Given the description of an element on the screen output the (x, y) to click on. 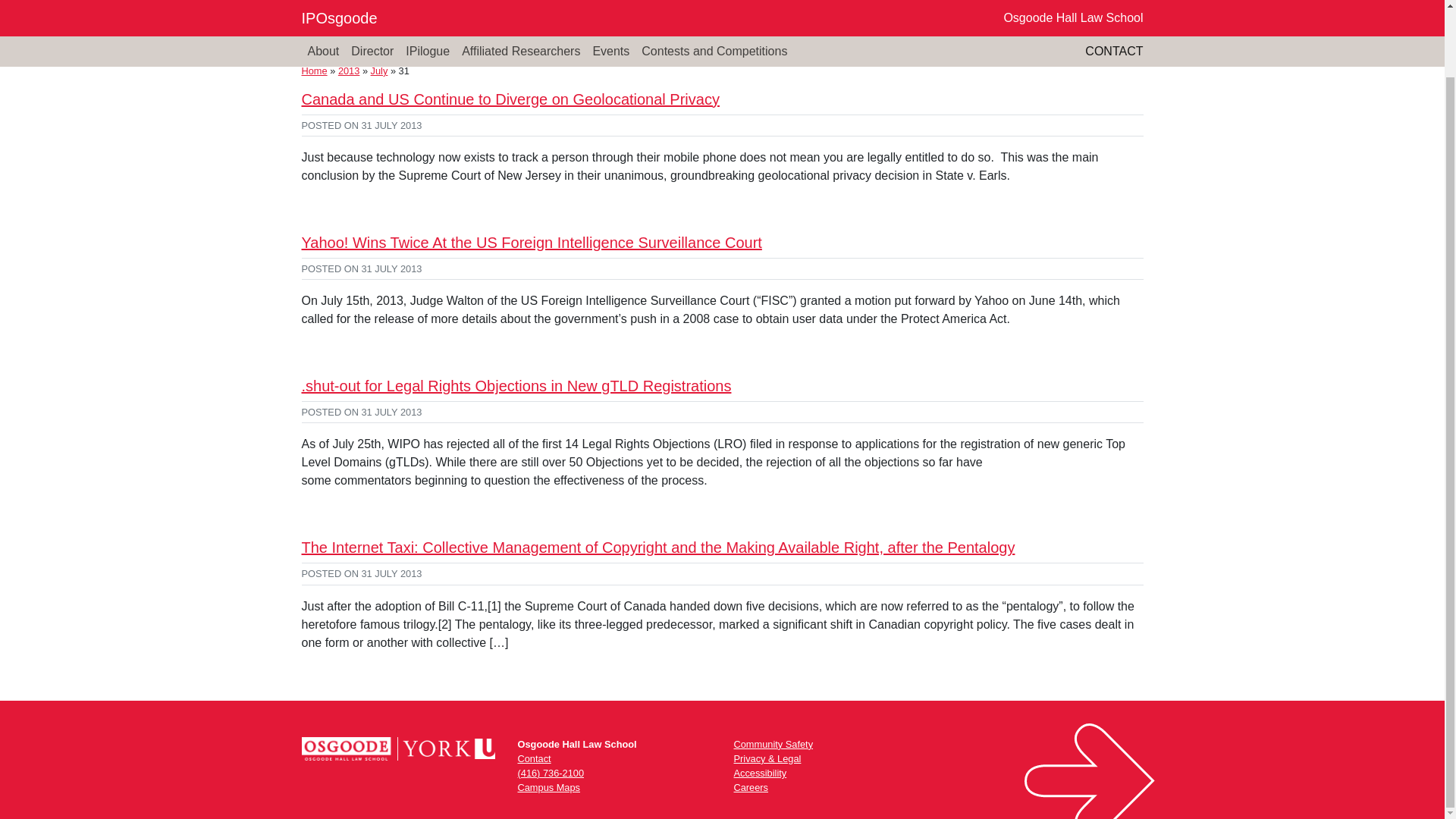
Careers (750, 787)
Canada and US Continue to Diverge on Geolocational Privacy (510, 98)
IPOsgoode (339, 9)
CONTACT (1113, 35)
July (379, 70)
Canada and US Continue to Diverge on Geolocational Privacy (510, 98)
2013 (348, 70)
About (323, 36)
